Given the description of an element on the screen output the (x, y) to click on. 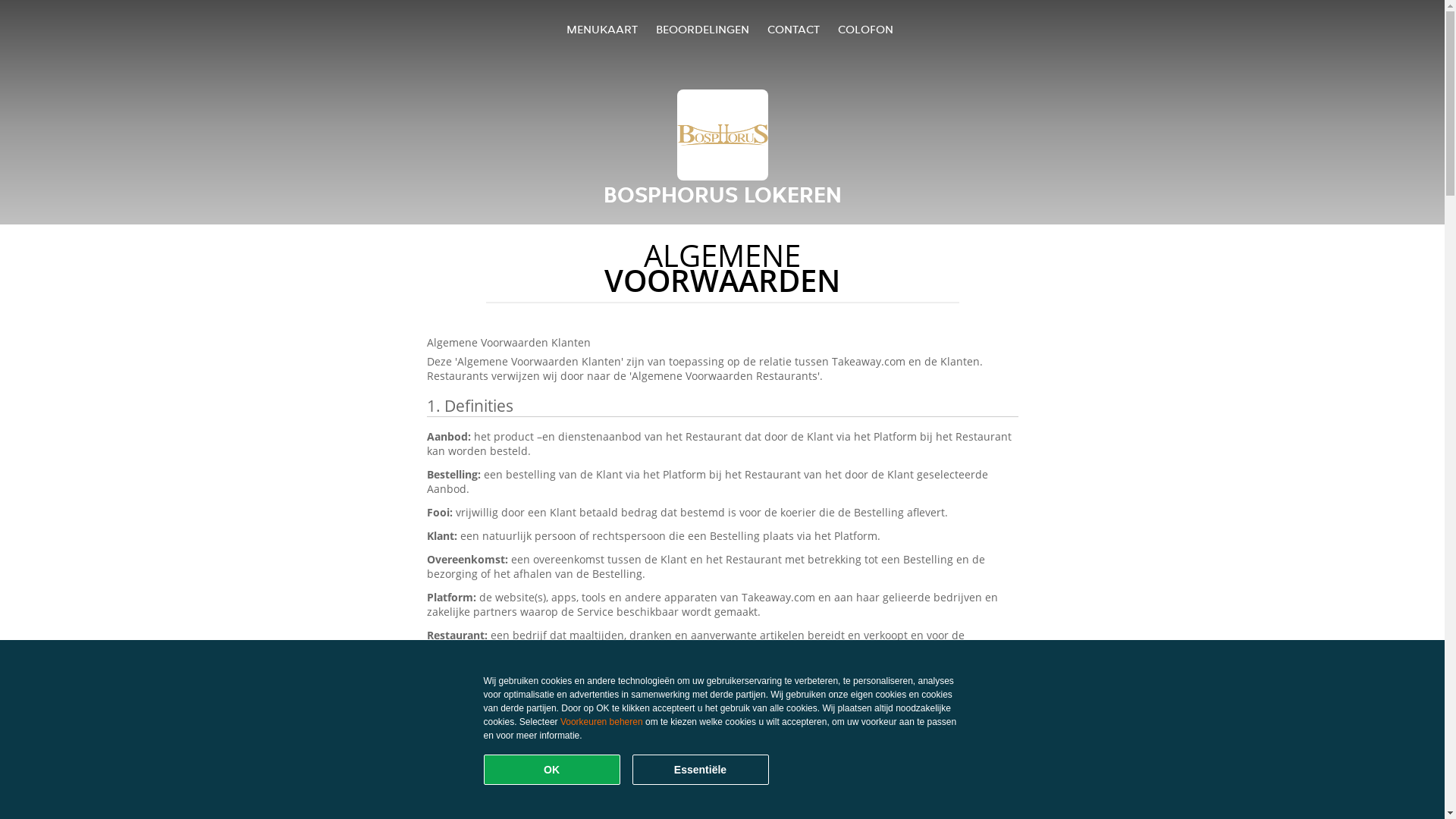
Voorkeuren beheren Element type: text (601, 721)
MENUKAART Element type: text (601, 29)
OK Element type: text (551, 769)
COLOFON Element type: text (865, 29)
BEOORDELINGEN Element type: text (702, 29)
CONTACT Element type: text (793, 29)
